Given the description of an element on the screen output the (x, y) to click on. 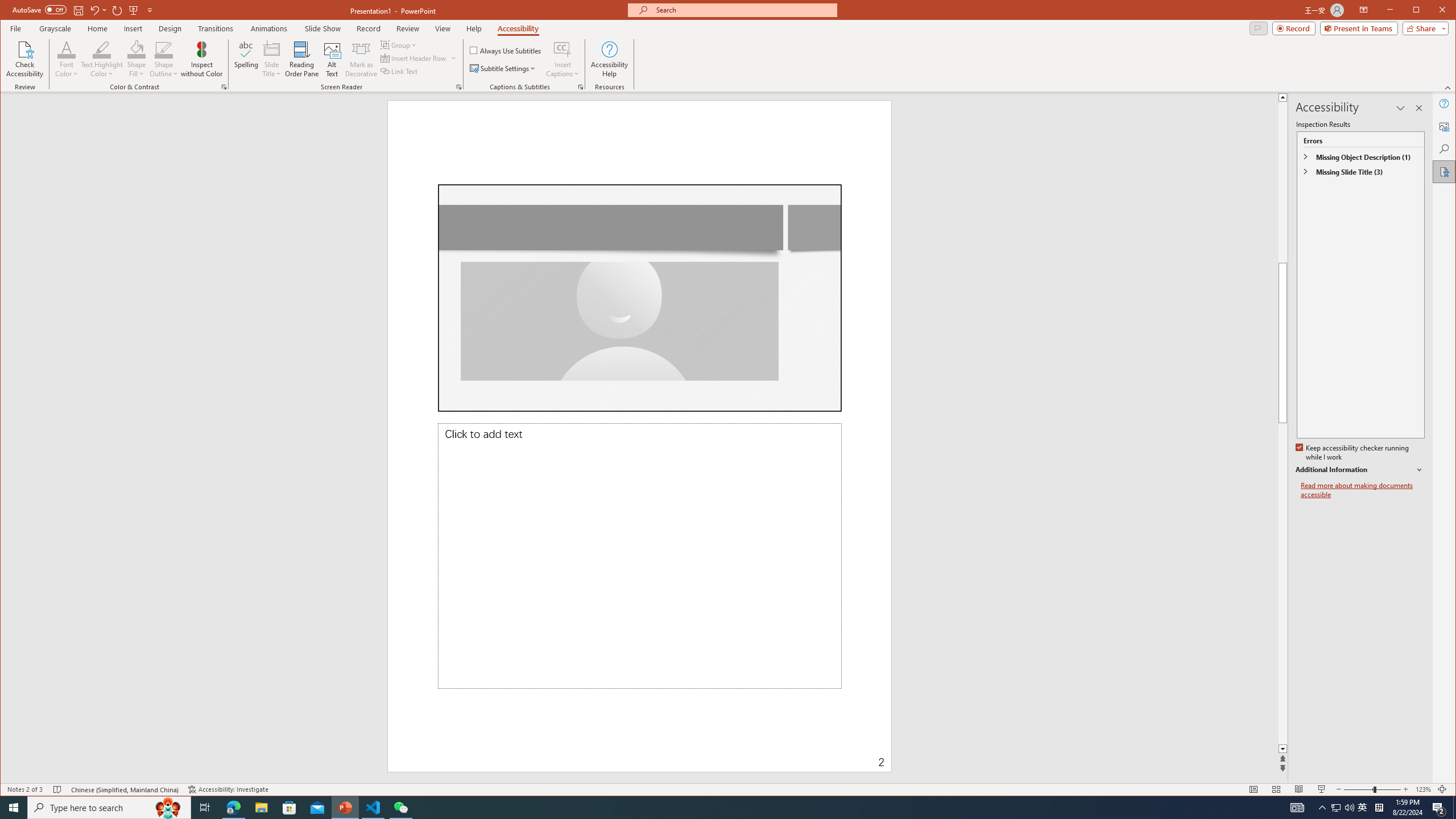
Inspect without Color (201, 59)
Page down (1427, 583)
Group (399, 44)
Shape Outline (163, 59)
